Given the description of an element on the screen output the (x, y) to click on. 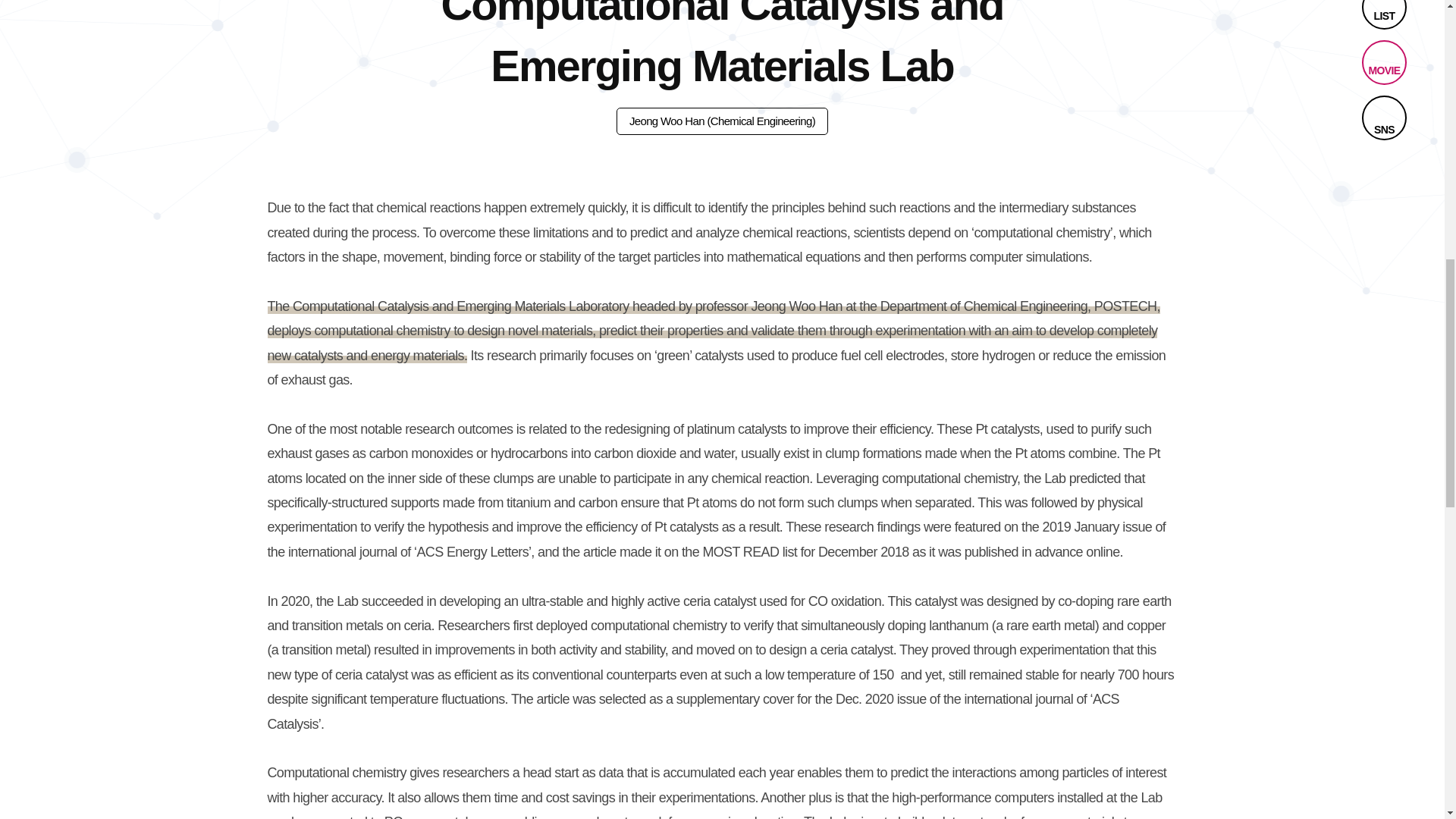
SNS (1383, 117)
MOVIE (1383, 62)
LIST (1383, 14)
